Given the description of an element on the screen output the (x, y) to click on. 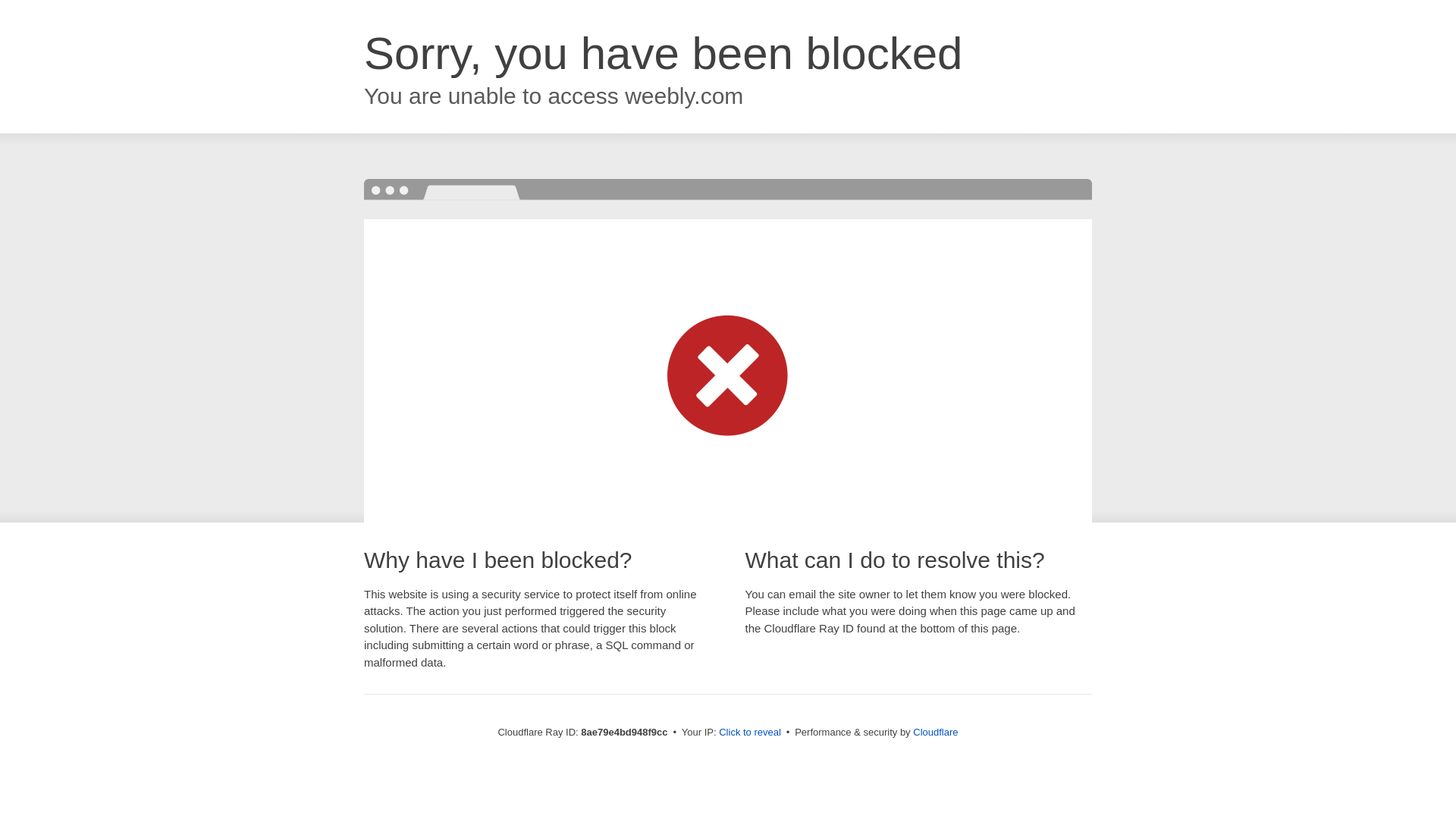
Cloudflare (935, 731)
Click to reveal (749, 732)
